Given the description of an element on the screen output the (x, y) to click on. 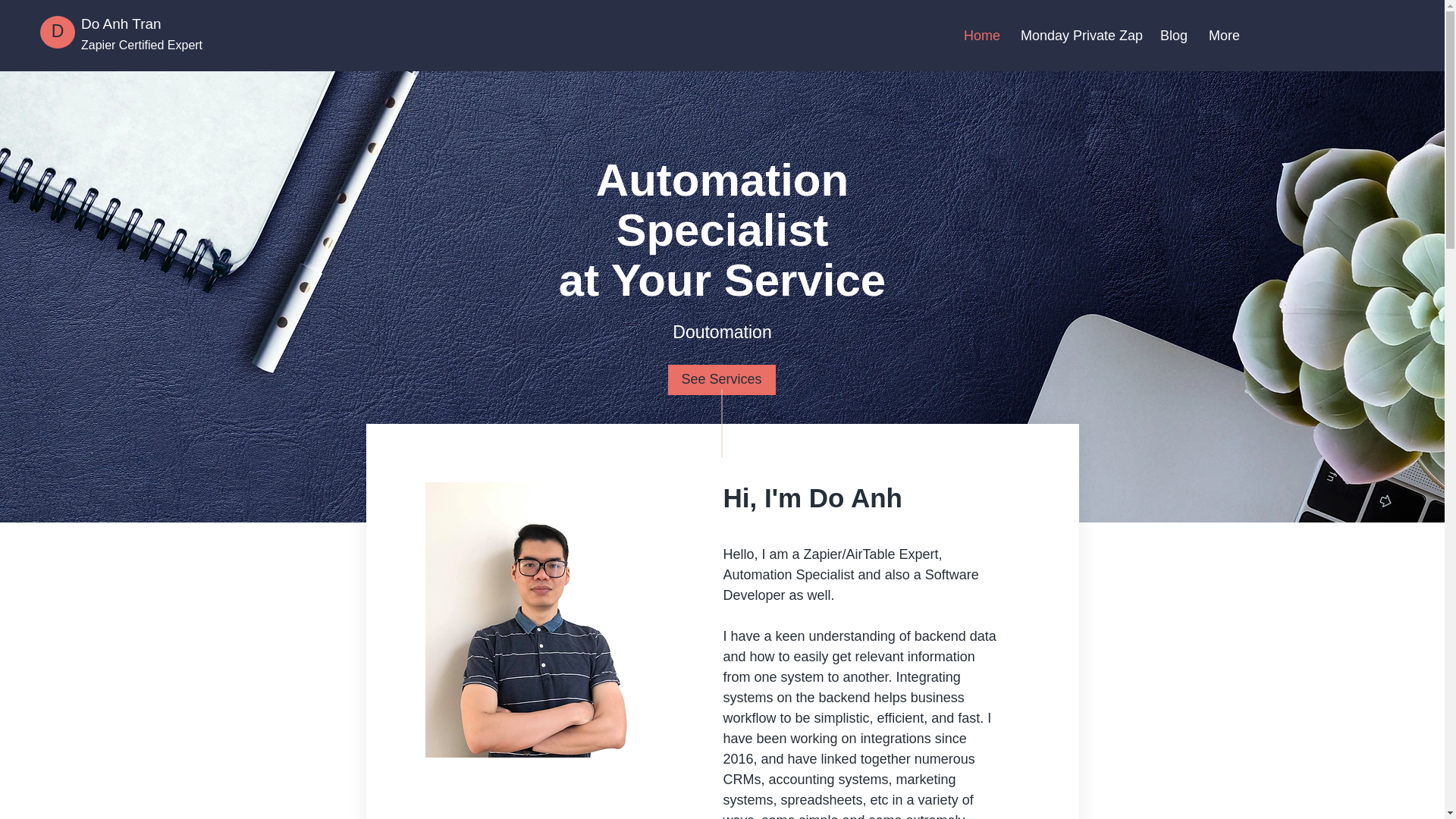
Do Anh Tran (121, 23)
Home (980, 35)
Monday Private Zap (1078, 35)
Zapier Certified Expert (141, 44)
See Services (720, 379)
Blog (1172, 35)
